Given the description of an element on the screen output the (x, y) to click on. 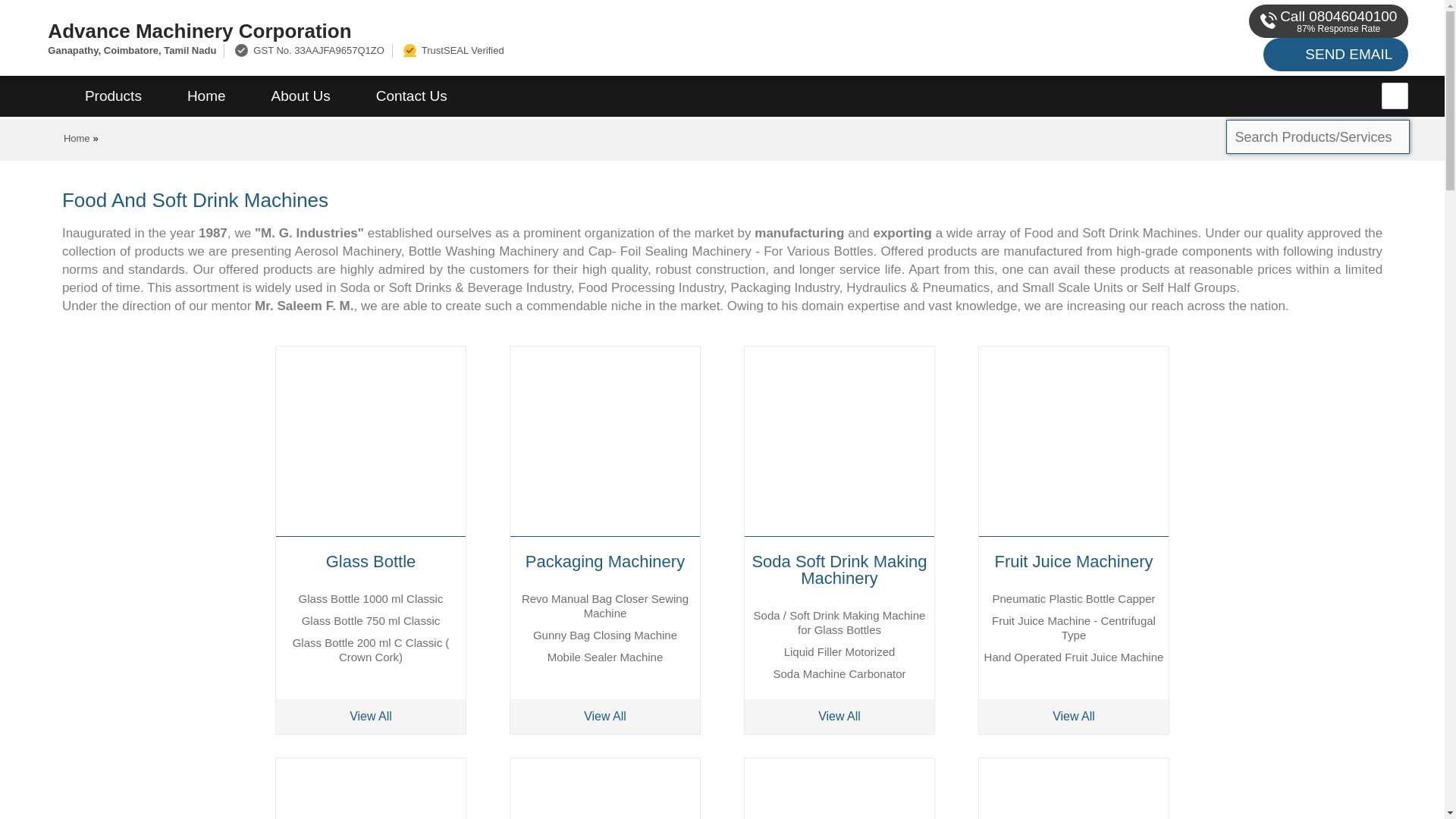
Products (113, 96)
Glass Bottle 1000 ml Classic (371, 598)
About Us (300, 96)
Packaging Machinery (605, 560)
Contact Us (411, 96)
Advance Machinery Corporation (485, 31)
Glass Bottle (370, 560)
Glass Bottle 750 ml Classic (371, 620)
Revo Manual Bag Closer Sewing Machine (604, 605)
View All (370, 716)
Home (206, 96)
Home (77, 138)
